Given the description of an element on the screen output the (x, y) to click on. 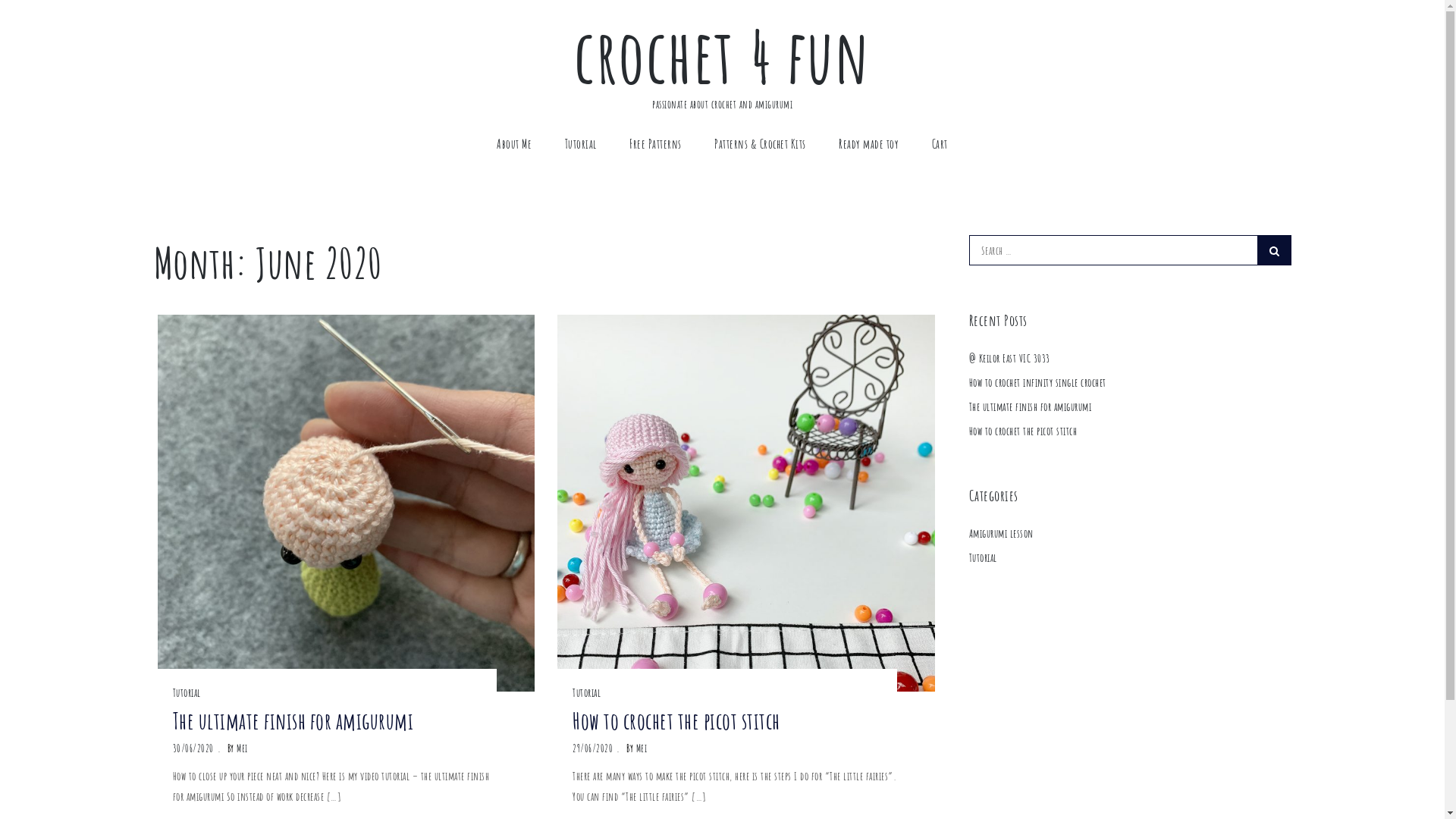
Tutorial Element type: text (580, 143)
The ultimate finish for amigurumi Element type: text (1030, 406)
Tutorial Element type: text (586, 692)
Search Element type: text (1274, 250)
Amigurumi lesson Element type: text (1001, 533)
How to crochet infinity single crochet Element type: text (1037, 382)
@ Keilor East VIC 3033 Element type: text (1009, 358)
Cart Element type: text (939, 143)
crochet 4 fun Element type: text (722, 55)
About Me Element type: text (513, 143)
Mei Element type: text (640, 747)
Mei Element type: text (241, 747)
The ultimate finish for amigurumi Element type: text (334, 720)
Patterns & Crochet Kits Element type: text (760, 143)
29/06/2020 Element type: text (592, 747)
Free Patterns Element type: text (655, 143)
How to crochet the picot stitch Element type: text (1023, 430)
Tutorial Element type: text (186, 692)
Ready made toy Element type: text (868, 143)
How to crochet the picot stitch Element type: text (734, 720)
30/06/2020 Element type: text (192, 747)
Tutorial Element type: text (983, 557)
Skip to content Element type: text (0, 0)
